Given the description of an element on the screen output the (x, y) to click on. 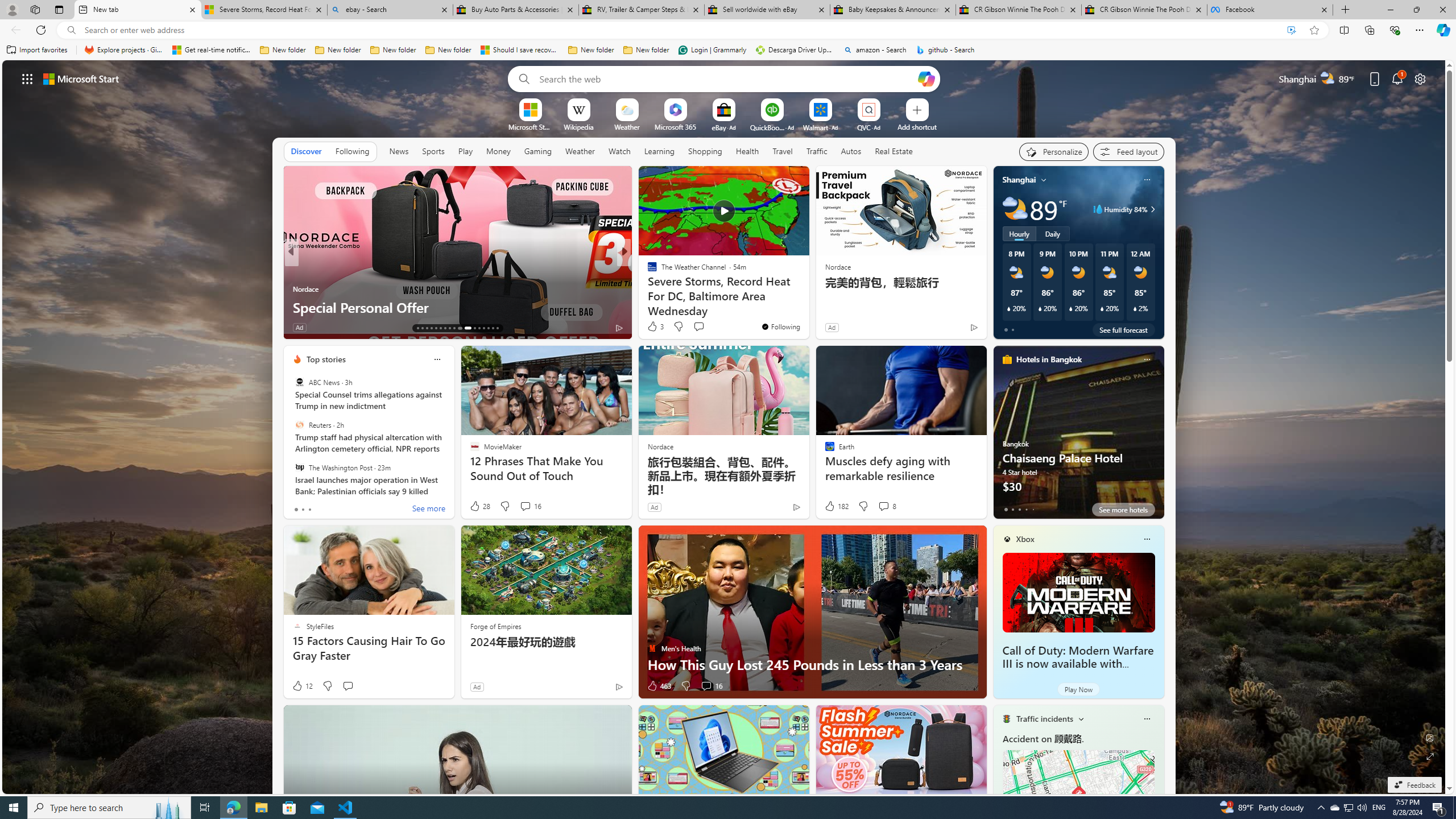
tab-4 (1032, 509)
3 Like (655, 326)
Search (520, 78)
More options (1146, 718)
Restore (1416, 9)
Start the conversation (347, 685)
New Tab (1346, 9)
Start the conversation (347, 685)
tab-1 (1012, 509)
Back (13, 29)
ABC News (299, 382)
AutomationID: tab-15 (426, 328)
github - Search (945, 49)
Real Estate (893, 151)
